Given the description of an element on the screen output the (x, y) to click on. 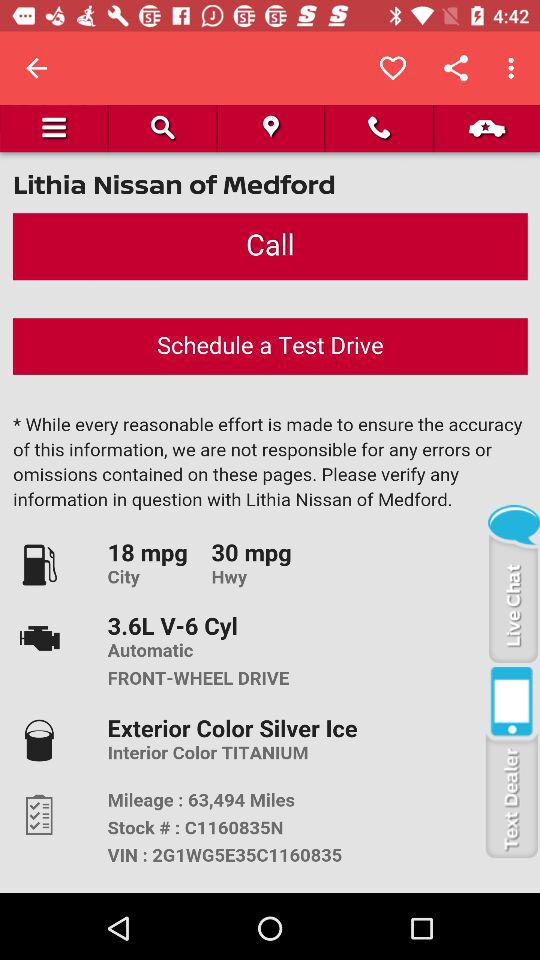
go back (36, 68)
